Given the description of an element on the screen output the (x, y) to click on. 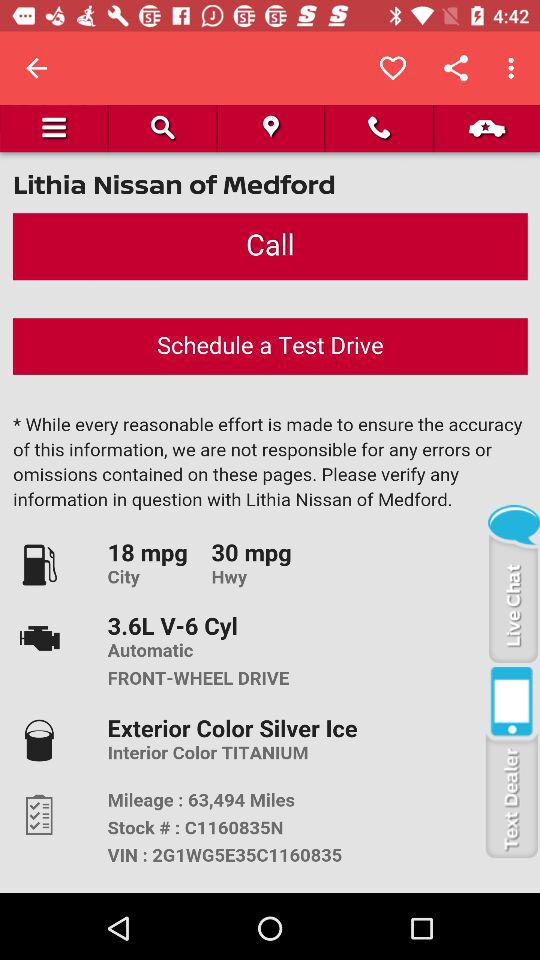
go back (36, 68)
